Given the description of an element on the screen output the (x, y) to click on. 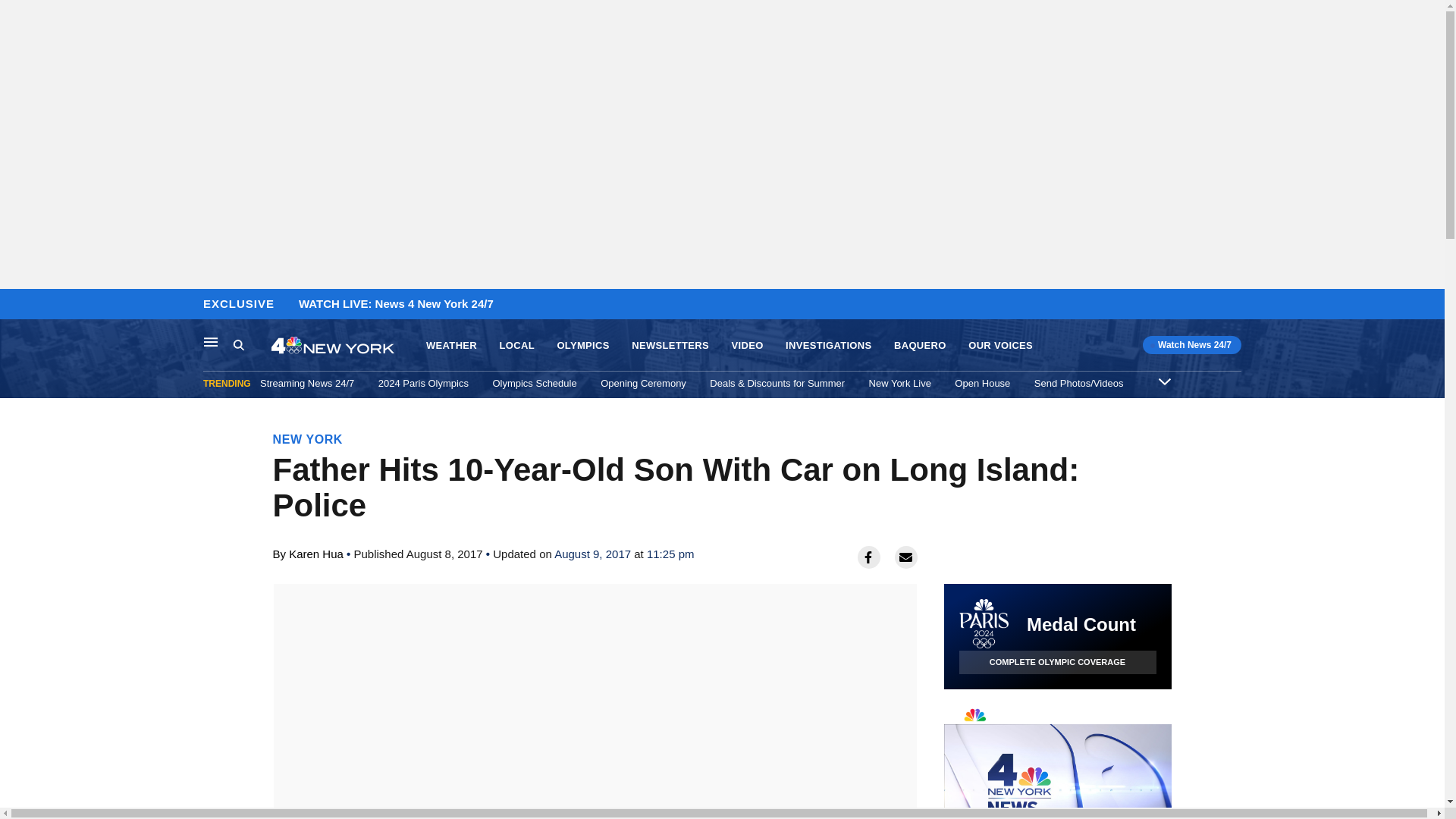
COMPLETE OLYMPIC COVERAGE (1057, 662)
INVESTIGATIONS (828, 345)
Open House (982, 383)
NEWSLETTERS (1056, 760)
OUR VOICES (670, 345)
Search (1000, 345)
Opening Ceremony (252, 345)
Search (642, 383)
NEW YORK (238, 344)
Olympics Schedule (308, 439)
Skip to content (534, 383)
LOCAL (16, 304)
BAQUERO (516, 345)
OLYMPICS (919, 345)
